Given the description of an element on the screen output the (x, y) to click on. 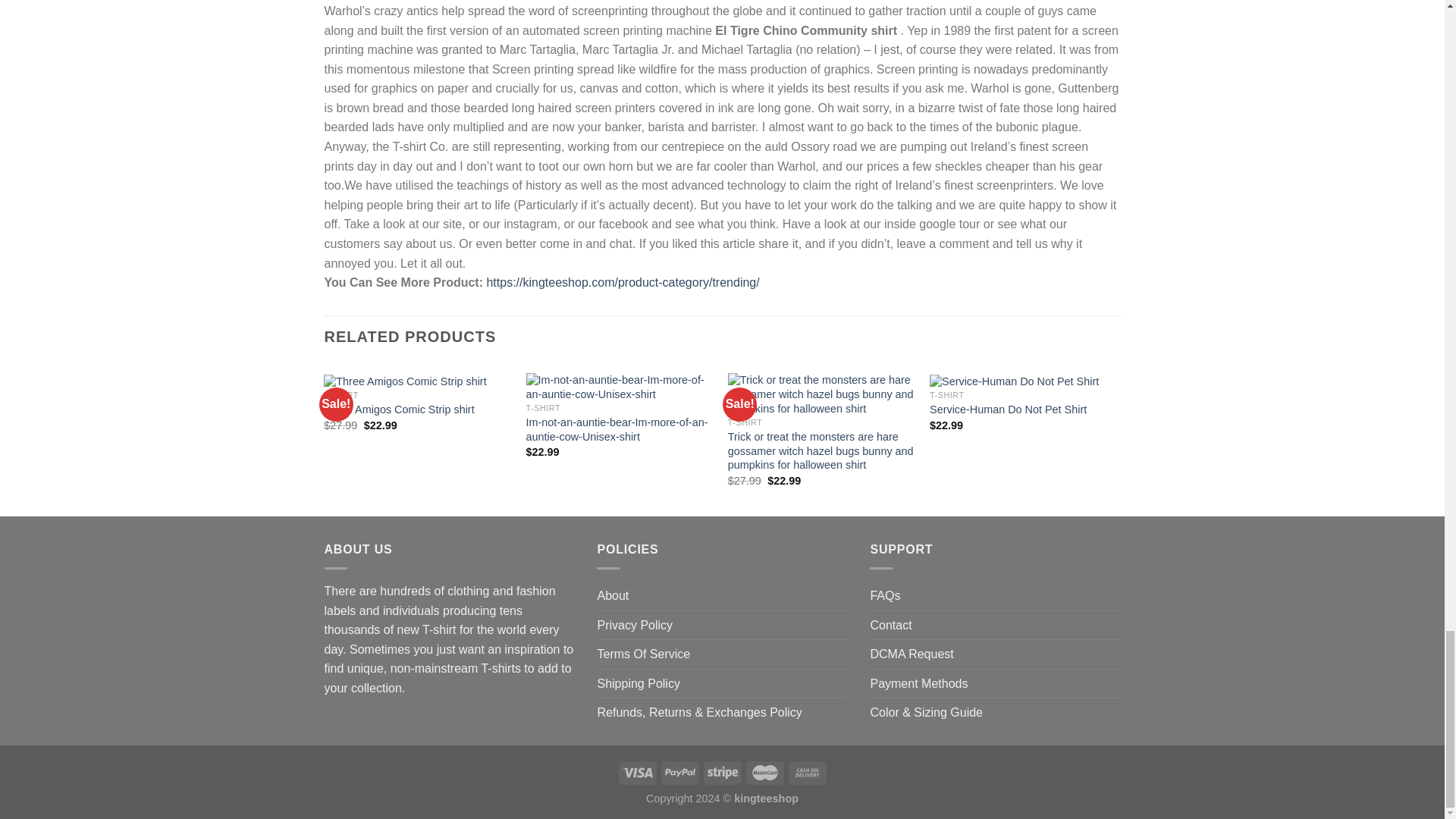
Submit (387, 736)
